Given the description of an element on the screen output the (x, y) to click on. 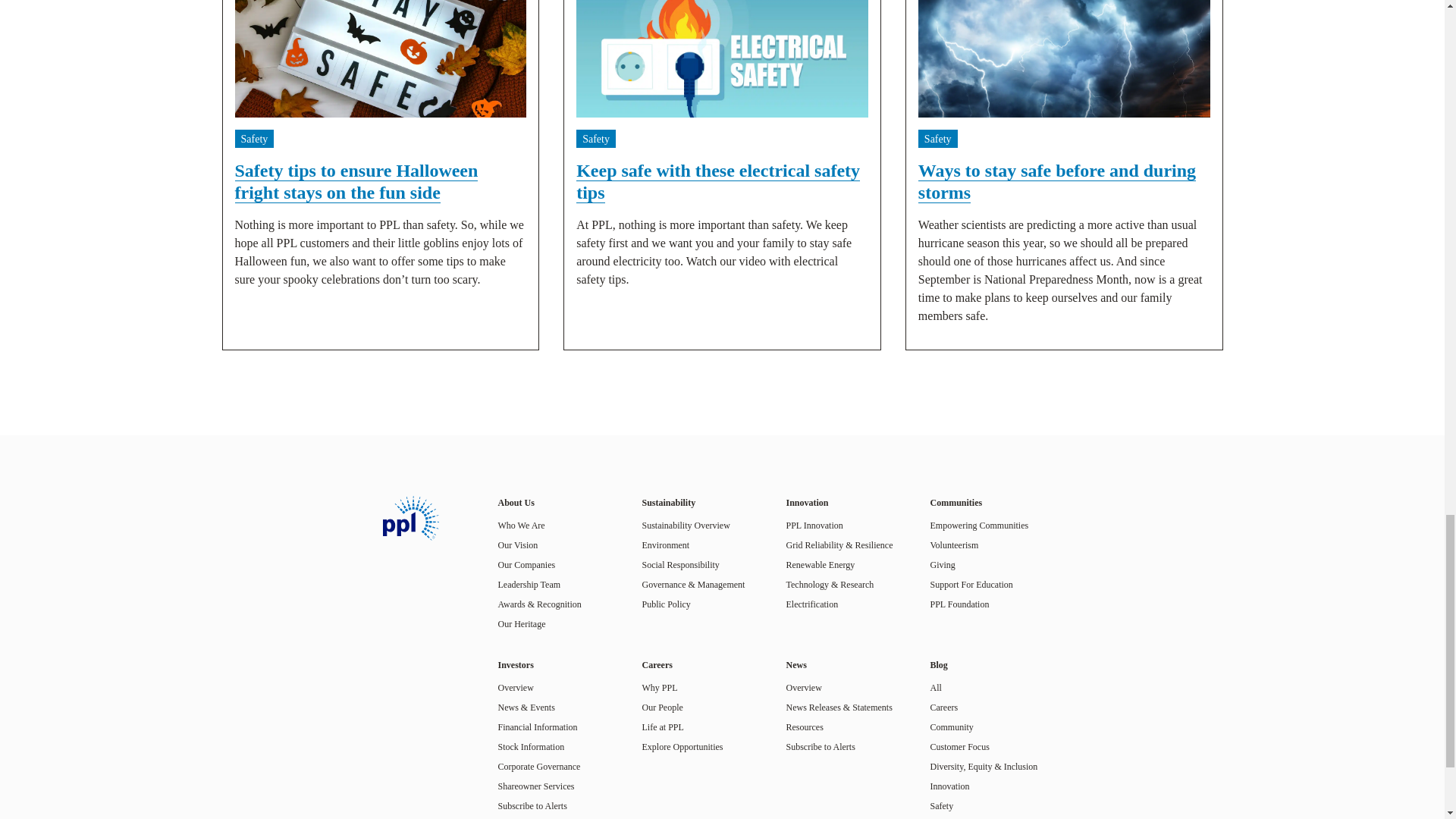
PPL Logo (409, 518)
